Given the description of an element on the screen output the (x, y) to click on. 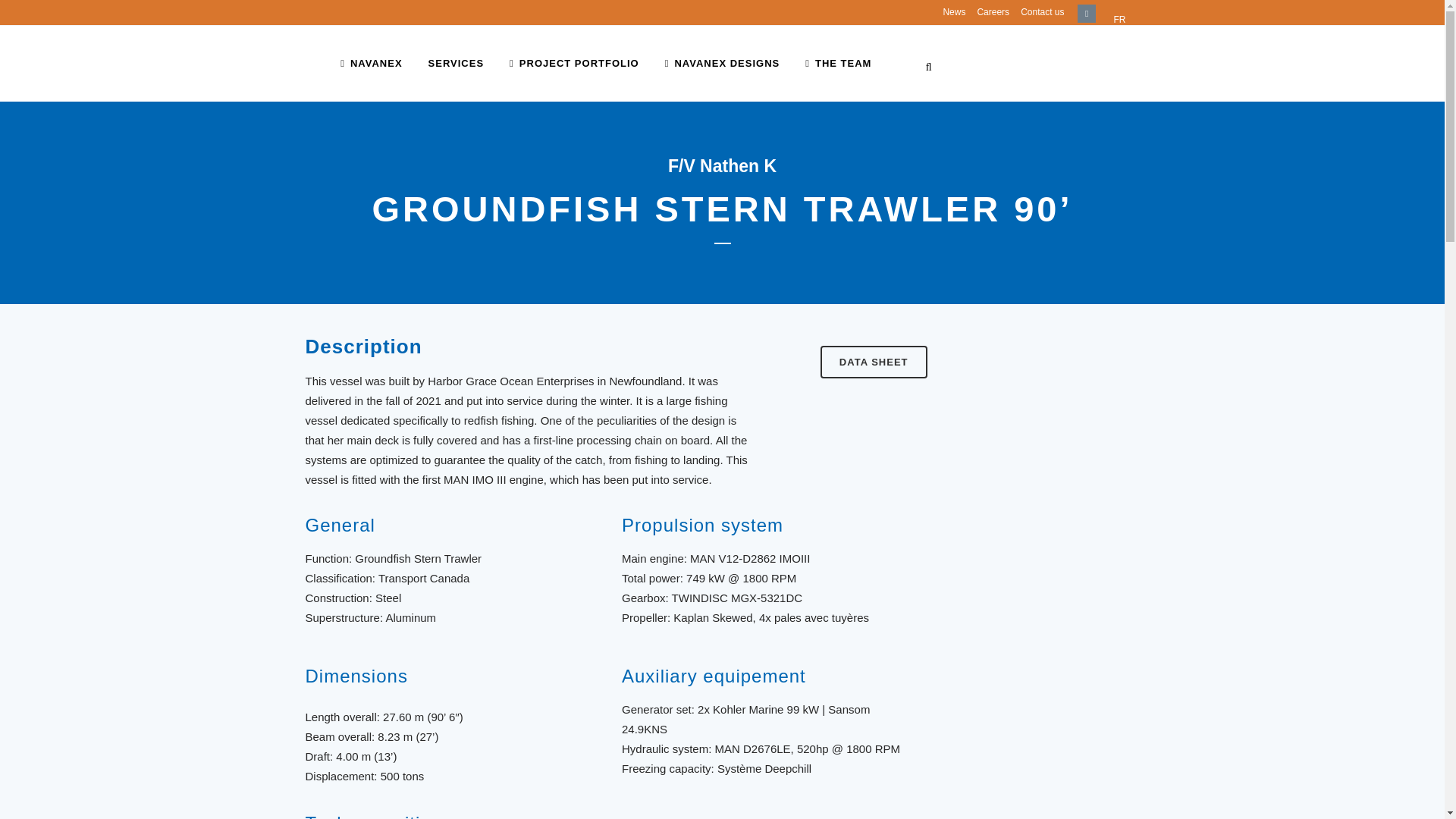
Careers (987, 12)
FR (1118, 18)
DATA SHEET (874, 361)
PROJECT PORTFOLIO (574, 63)
SERVICES (455, 63)
News (948, 12)
Contact us (1036, 12)
NAVANEX (370, 63)
NAVANEX DESIGNS (722, 63)
THE TEAM (837, 63)
